Given the description of an element on the screen output the (x, y) to click on. 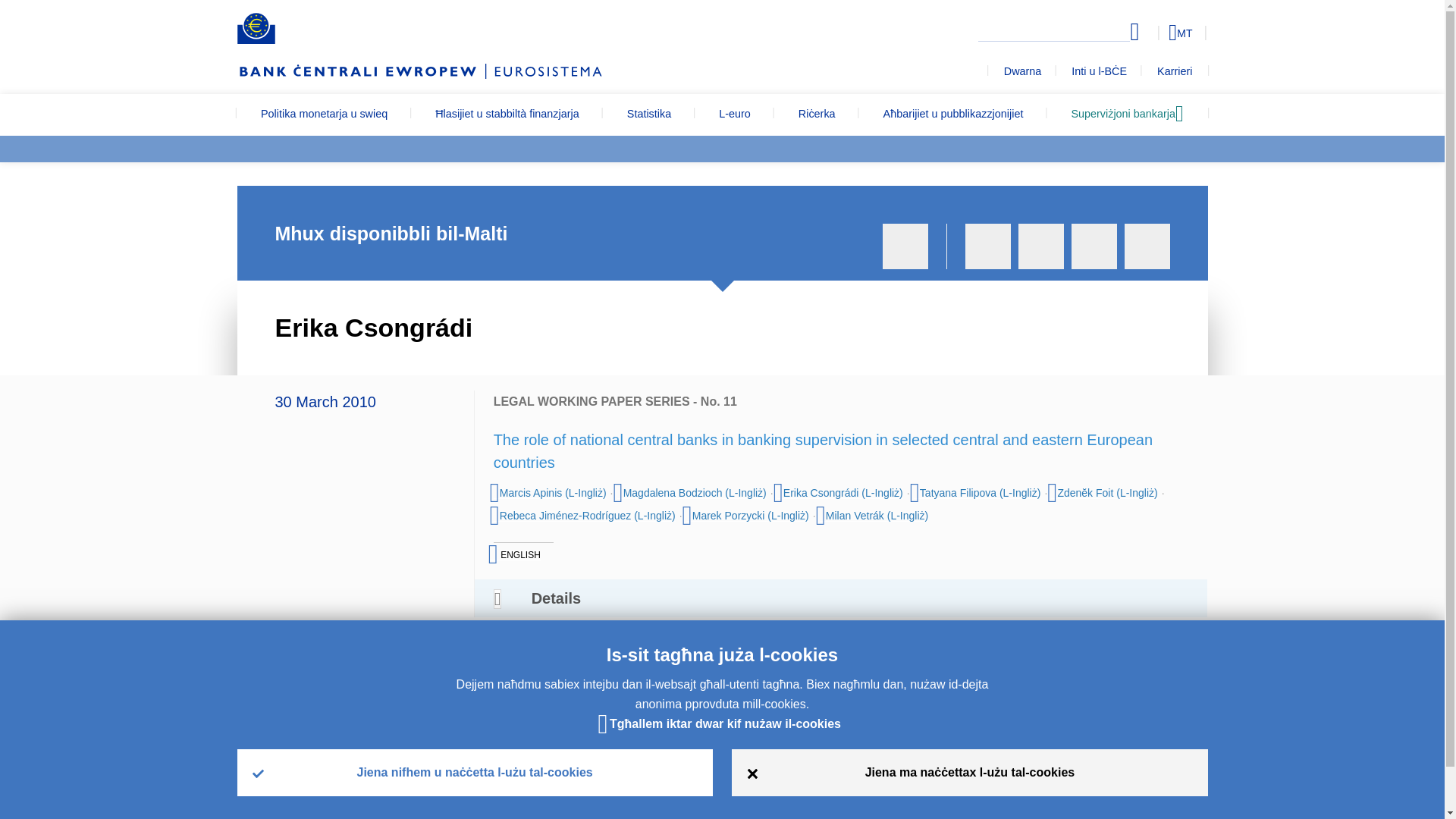
Politika monetarja u swieq (322, 114)
Select language (1153, 32)
